Given the description of an element on the screen output the (x, y) to click on. 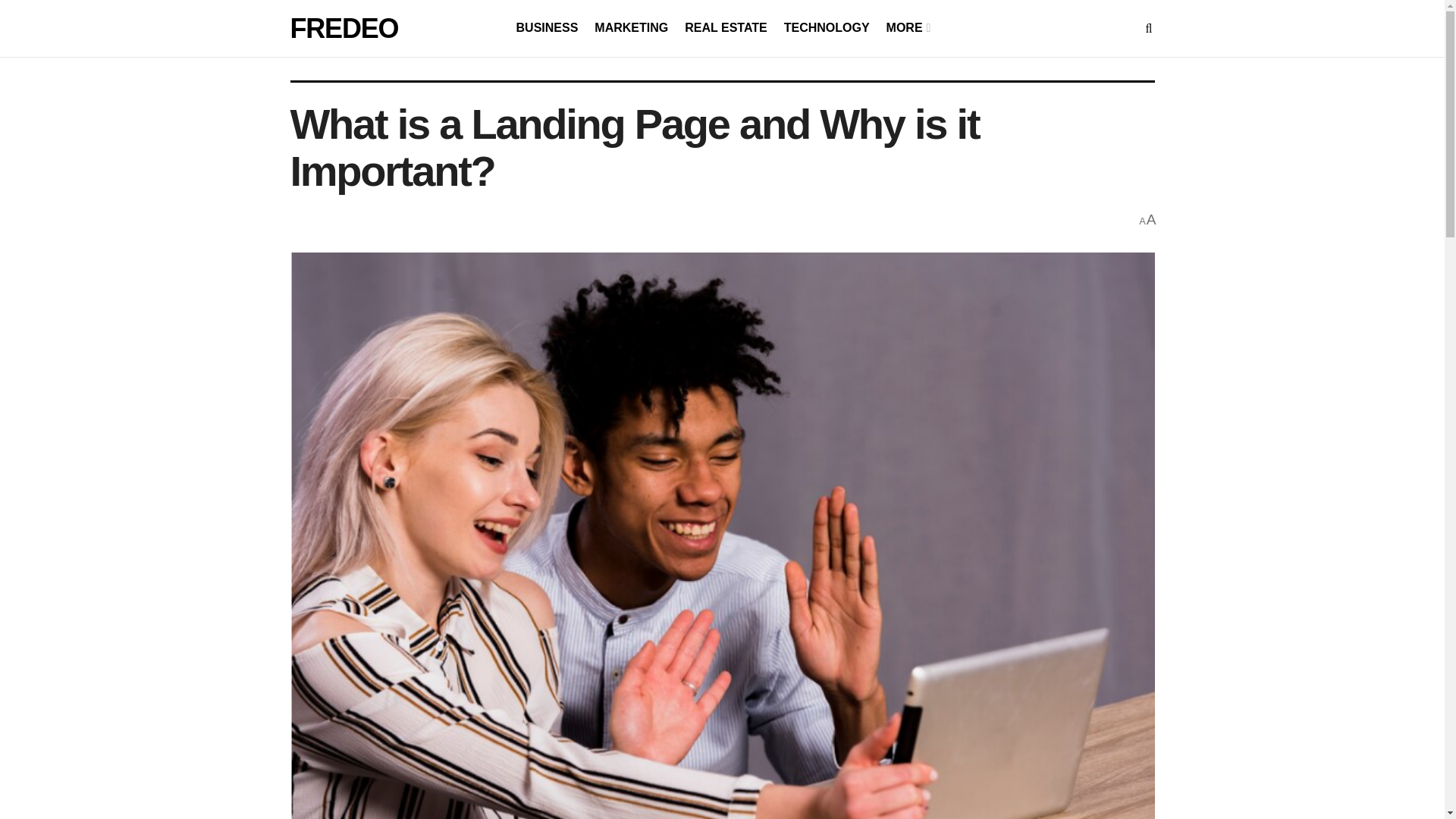
MORE (907, 27)
REAL ESTATE (725, 27)
MARKETING (631, 27)
BUSINESS (547, 27)
TECHNOLOGY (826, 27)
FREDEO (343, 28)
